Given the description of an element on the screen output the (x, y) to click on. 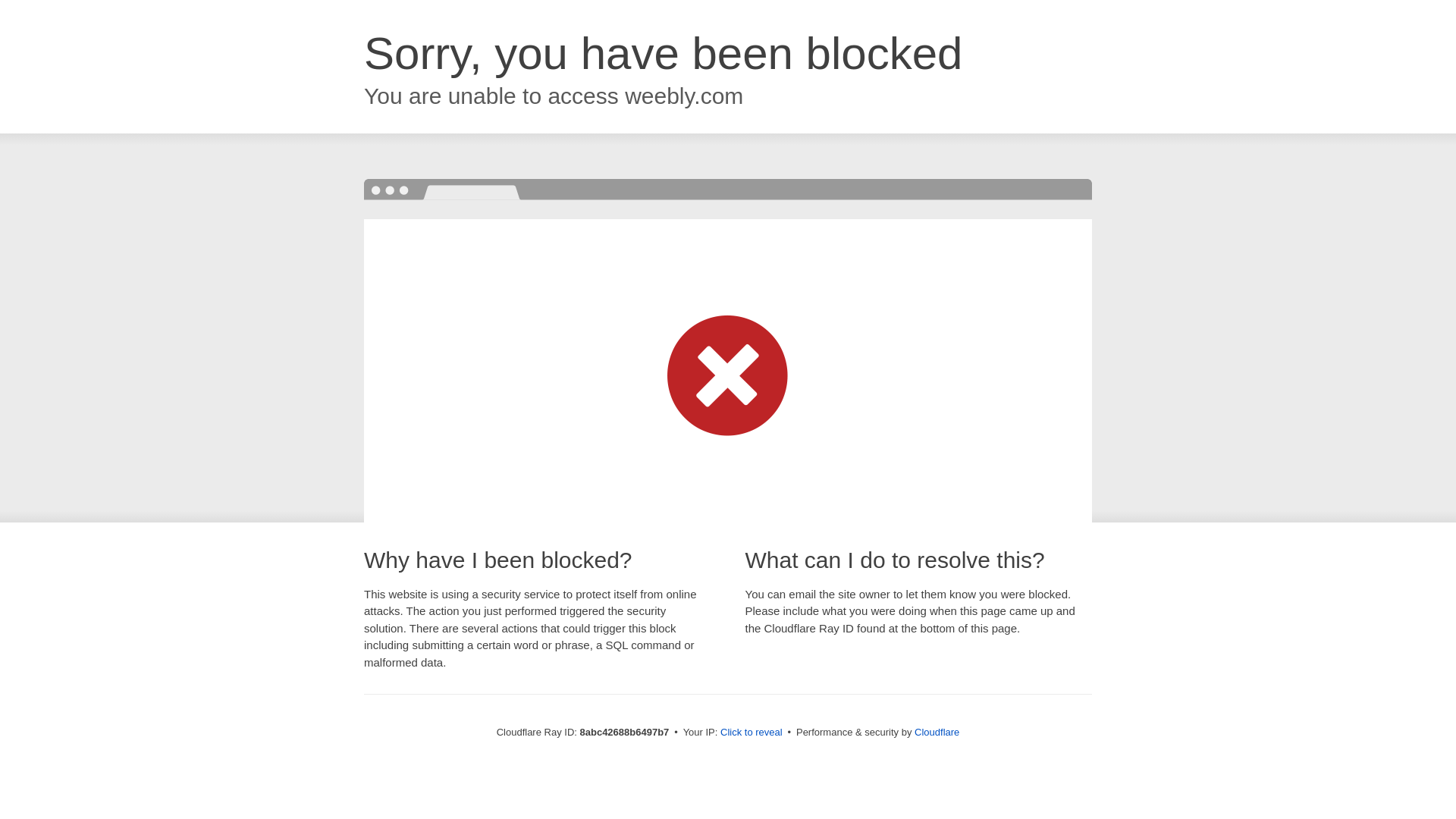
Cloudflare (936, 731)
Click to reveal (751, 732)
